Given the description of an element on the screen output the (x, y) to click on. 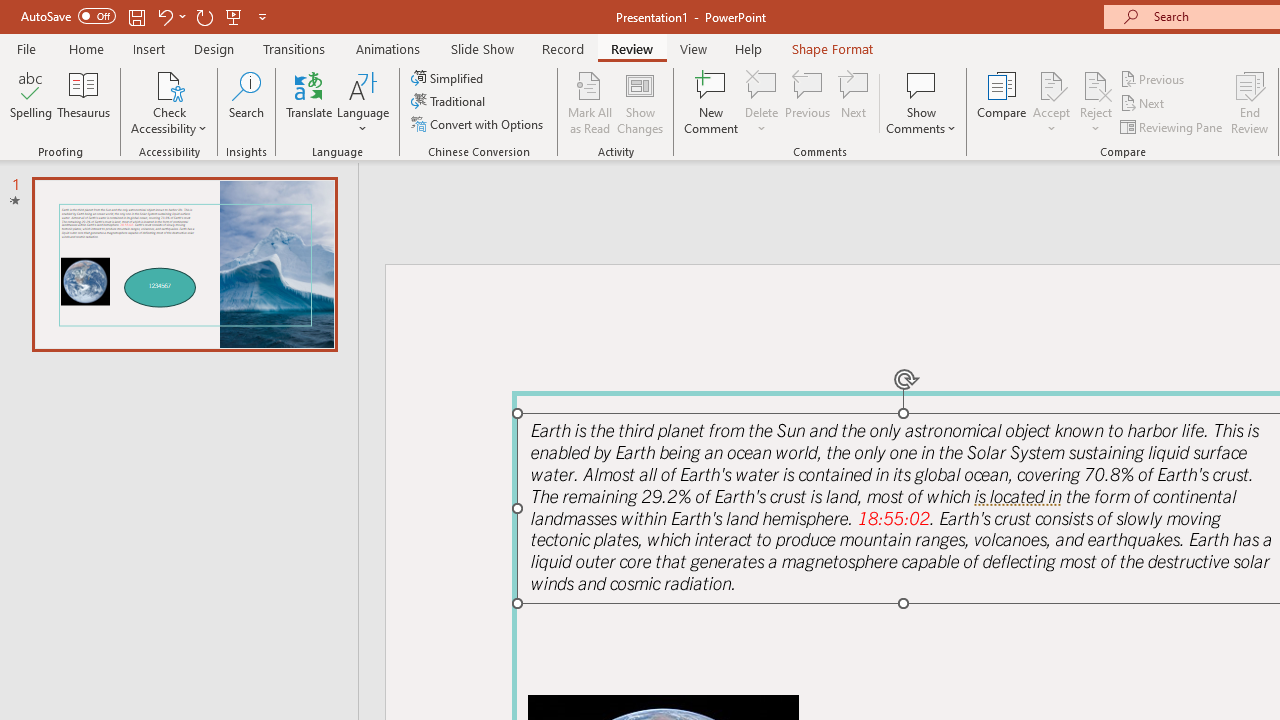
Traditional (449, 101)
Check Accessibility (169, 84)
Translate (309, 102)
Thesaurus... (83, 102)
